Given the description of an element on the screen output the (x, y) to click on. 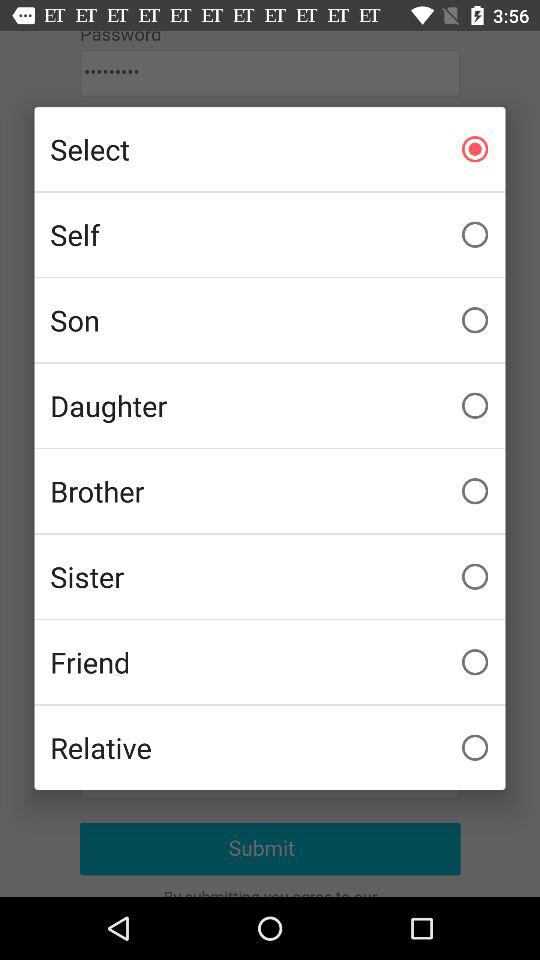
launch checkbox above the daughter checkbox (269, 320)
